Given the description of an element on the screen output the (x, y) to click on. 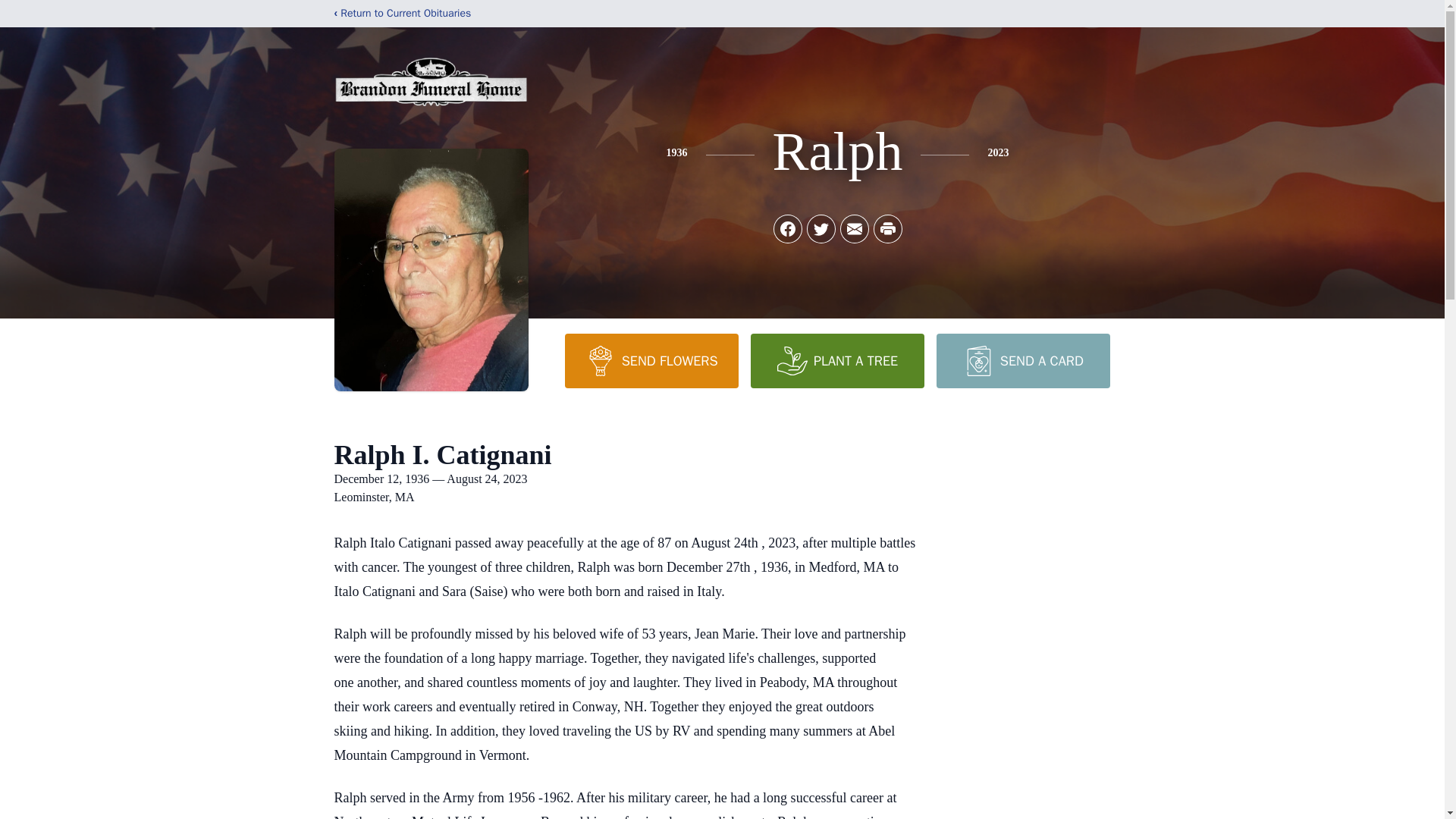
SEND FLOWERS (651, 360)
PLANT A TREE (837, 360)
SEND A CARD (1022, 360)
